Given the description of an element on the screen output the (x, y) to click on. 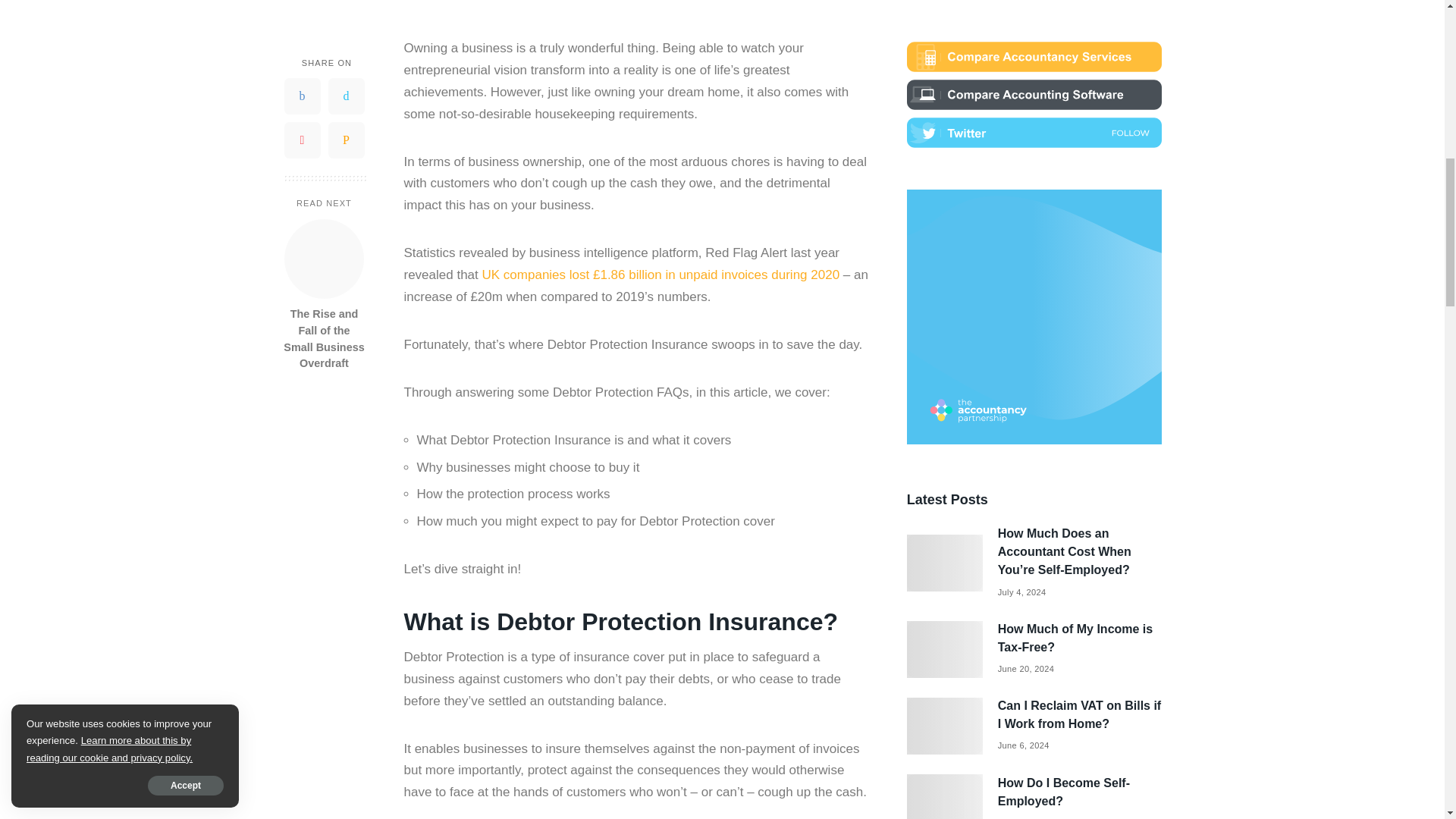
Facebook (301, 77)
The Rise and Fall of the Small Business Overdraft (323, 240)
Email (345, 122)
The Rise and Fall of the Small Business Overdraft (323, 320)
Pinterest (301, 122)
Twitter (345, 77)
